Given the description of an element on the screen output the (x, y) to click on. 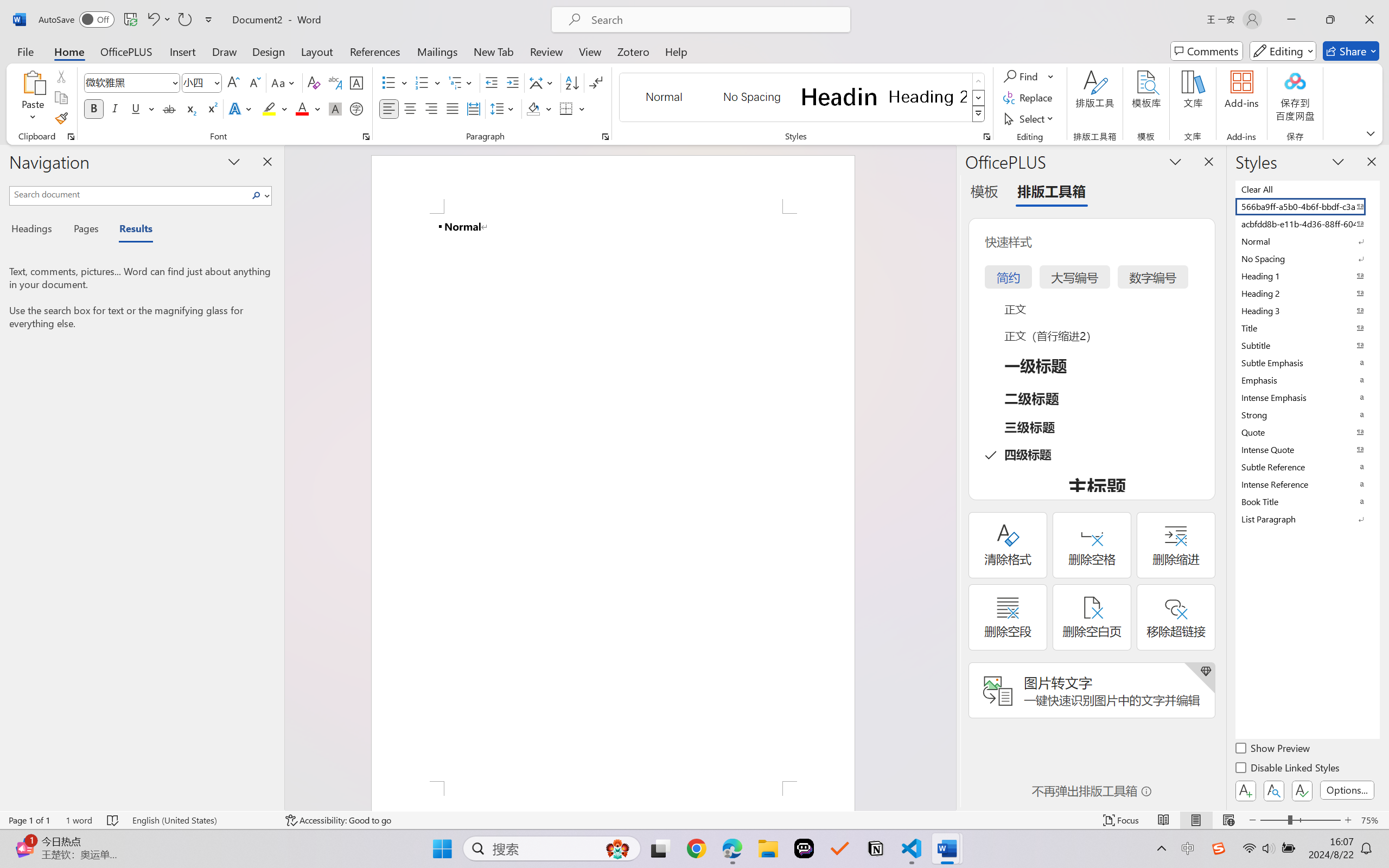
Paste (33, 97)
Show Preview (1273, 749)
Quick Access Toolbar (127, 19)
Zoom (1300, 819)
OfficePLUS (126, 51)
Change Case (284, 82)
Page Number Page 1 of 1 (29, 819)
Quote (1306, 431)
Copy (60, 97)
AutoSave (76, 19)
Subtle Reference (1306, 466)
Draw (224, 51)
Sort... (571, 82)
